Given the description of an element on the screen output the (x, y) to click on. 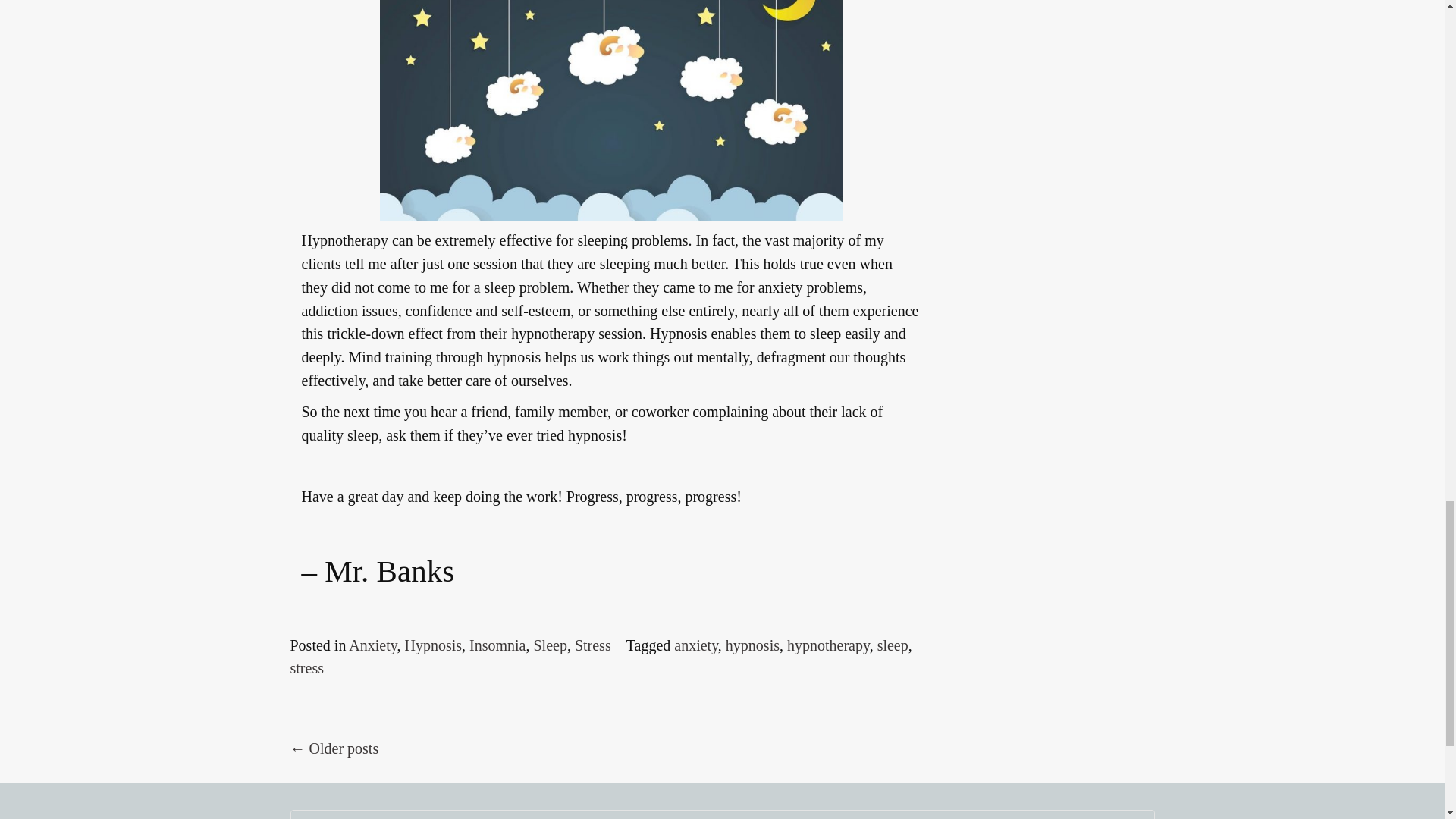
Hypnosis (432, 645)
anxiety (695, 645)
Stress (593, 645)
Insomnia (496, 645)
Anxiety (372, 645)
Sleep (549, 645)
